Given the description of an element on the screen output the (x, y) to click on. 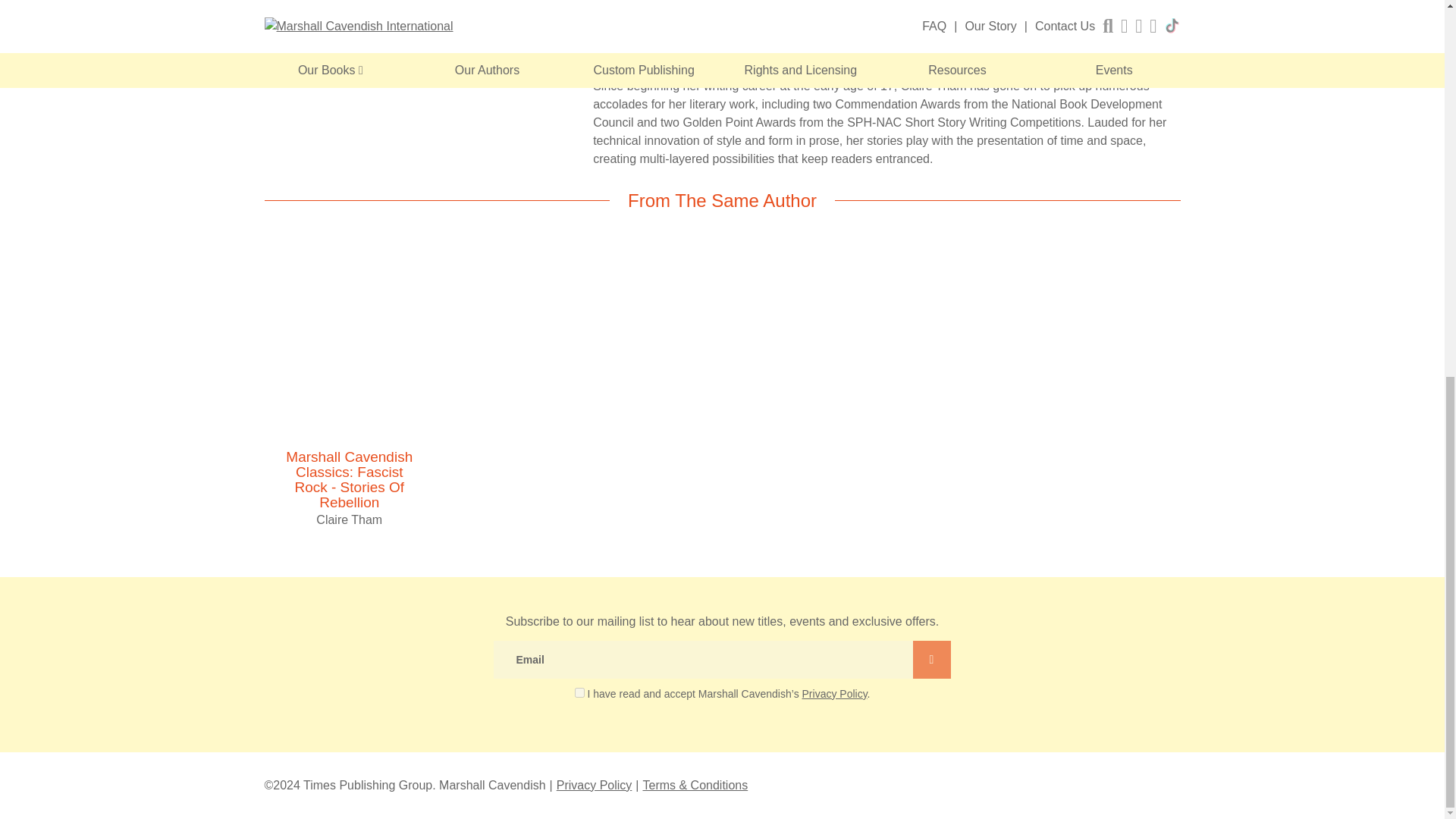
1 (580, 691)
